Given the description of an element on the screen output the (x, y) to click on. 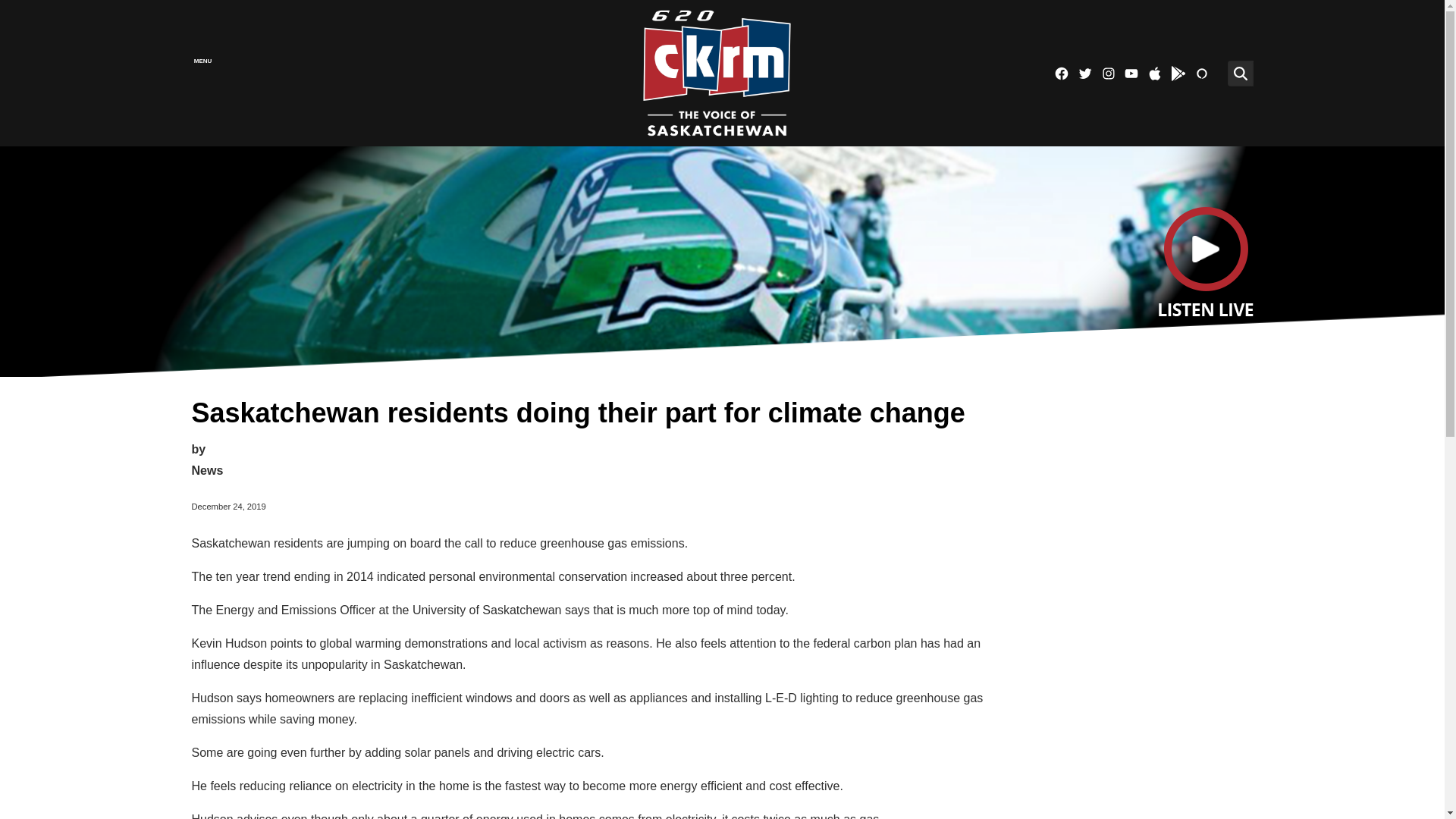
Apple Store (1154, 73)
Facebook (1061, 73)
Ask Alexa (1200, 73)
Google Play (1178, 73)
YouTube (1131, 73)
Twitter (1085, 73)
Instagram (1108, 73)
